Given the description of an element on the screen output the (x, y) to click on. 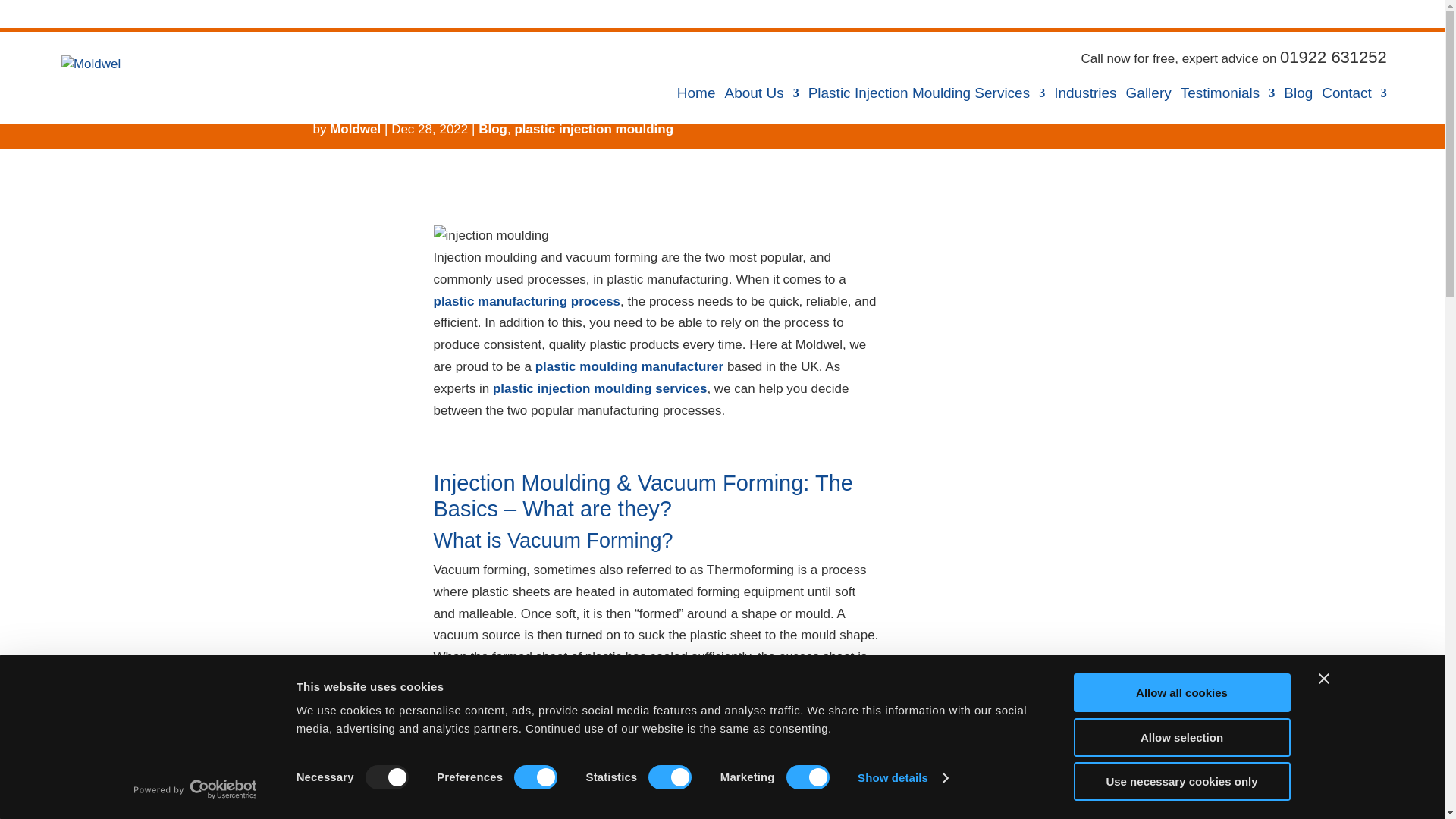
Allow selection (1182, 736)
Use necessary cookies only (1182, 781)
Show details (902, 777)
Posts by Moldwel (355, 129)
